Given the description of an element on the screen output the (x, y) to click on. 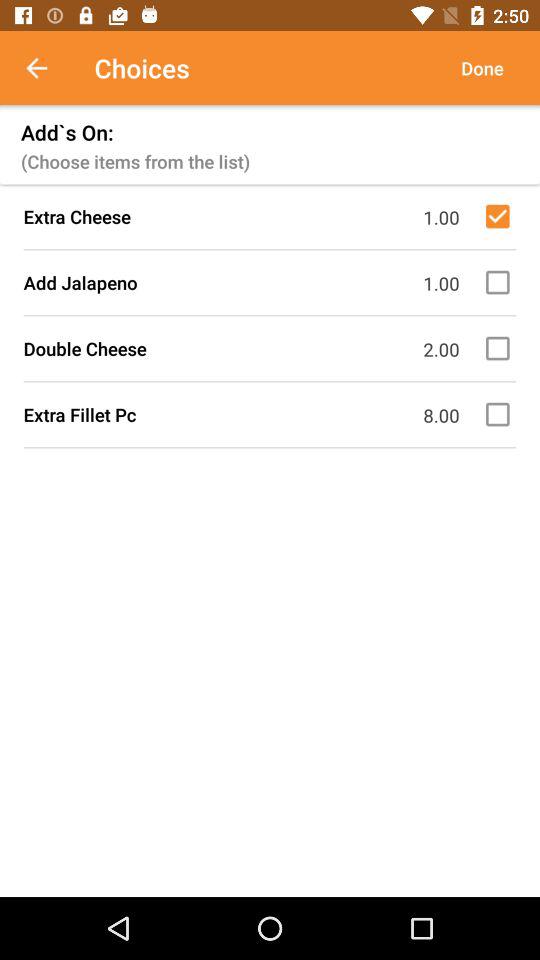
a box for choosing double cheese (501, 348)
